Given the description of an element on the screen output the (x, y) to click on. 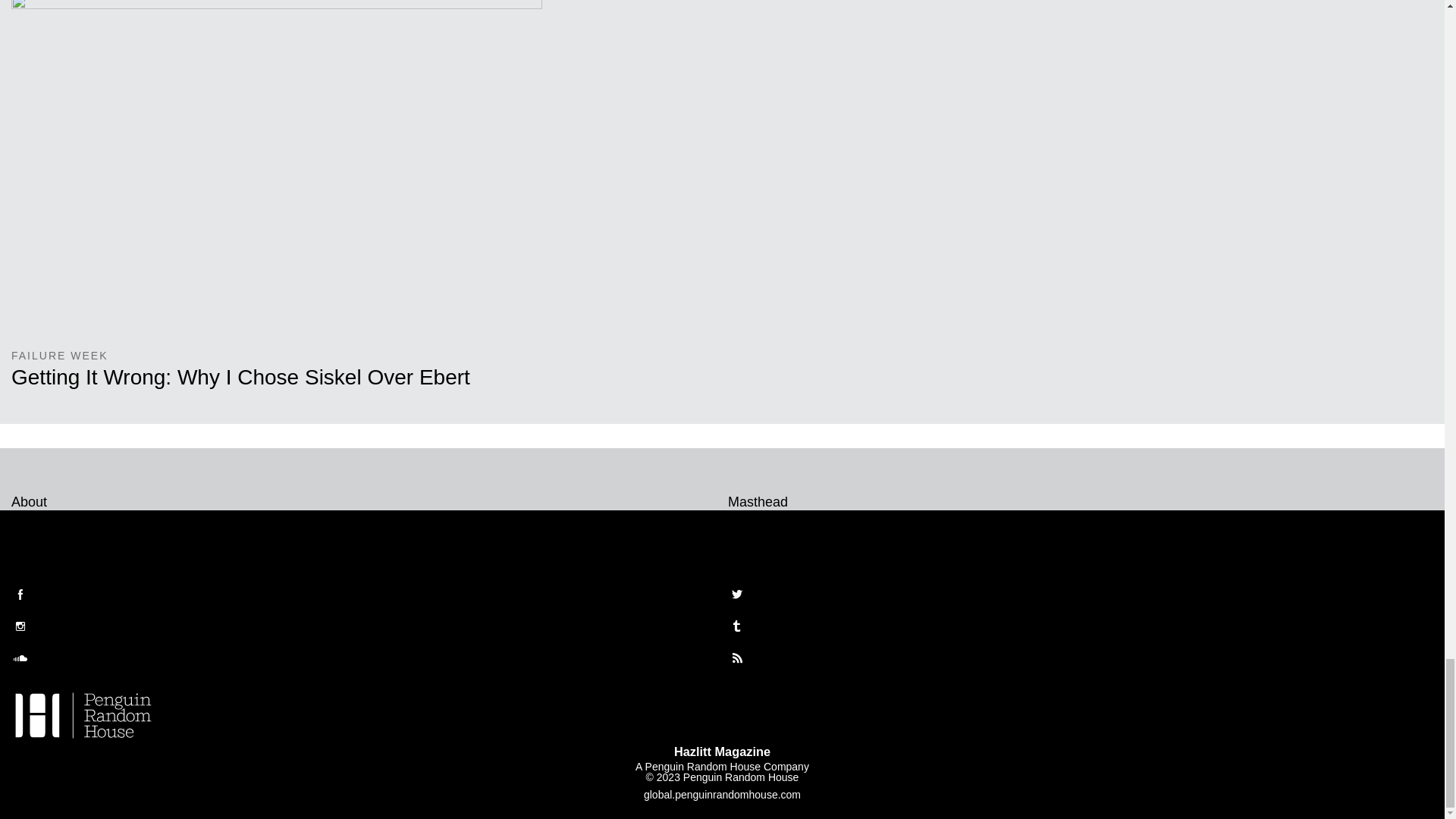
RSS (736, 658)
Instagram (20, 626)
Twitter (736, 594)
Soundcloud (20, 658)
Tumblr (736, 626)
Facebook (20, 594)
